Given the description of an element on the screen output the (x, y) to click on. 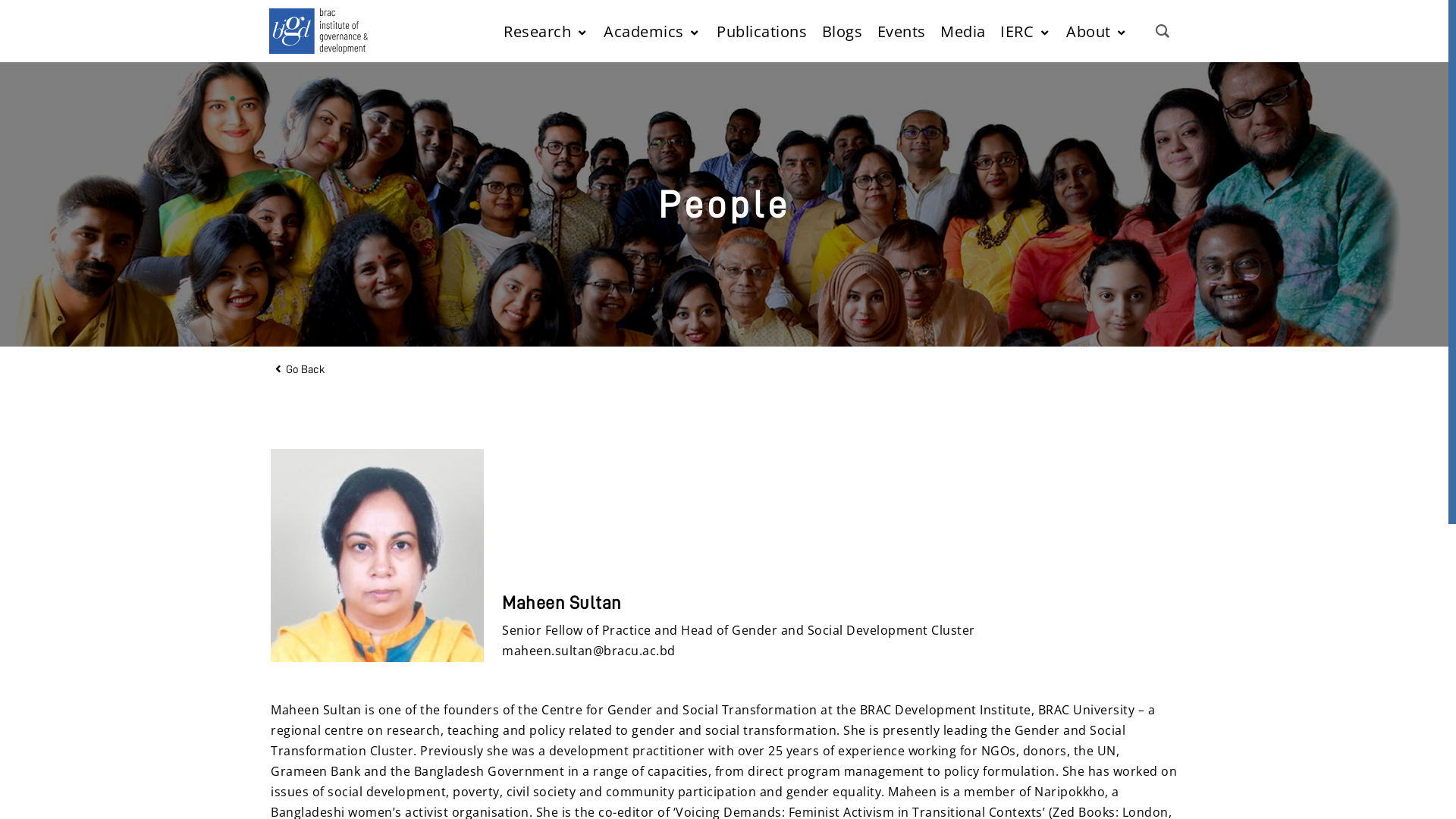
  Go Back Element type: text (299, 369)
About Element type: text (1097, 30)
Publications Element type: text (761, 30)
Research Element type: text (546, 30)
IERC Element type: text (1025, 30)
Media Element type: text (962, 30)
Events Element type: text (900, 30)
Academics Element type: text (652, 30)
Blogs Element type: text (842, 30)
